Given the description of an element on the screen output the (x, y) to click on. 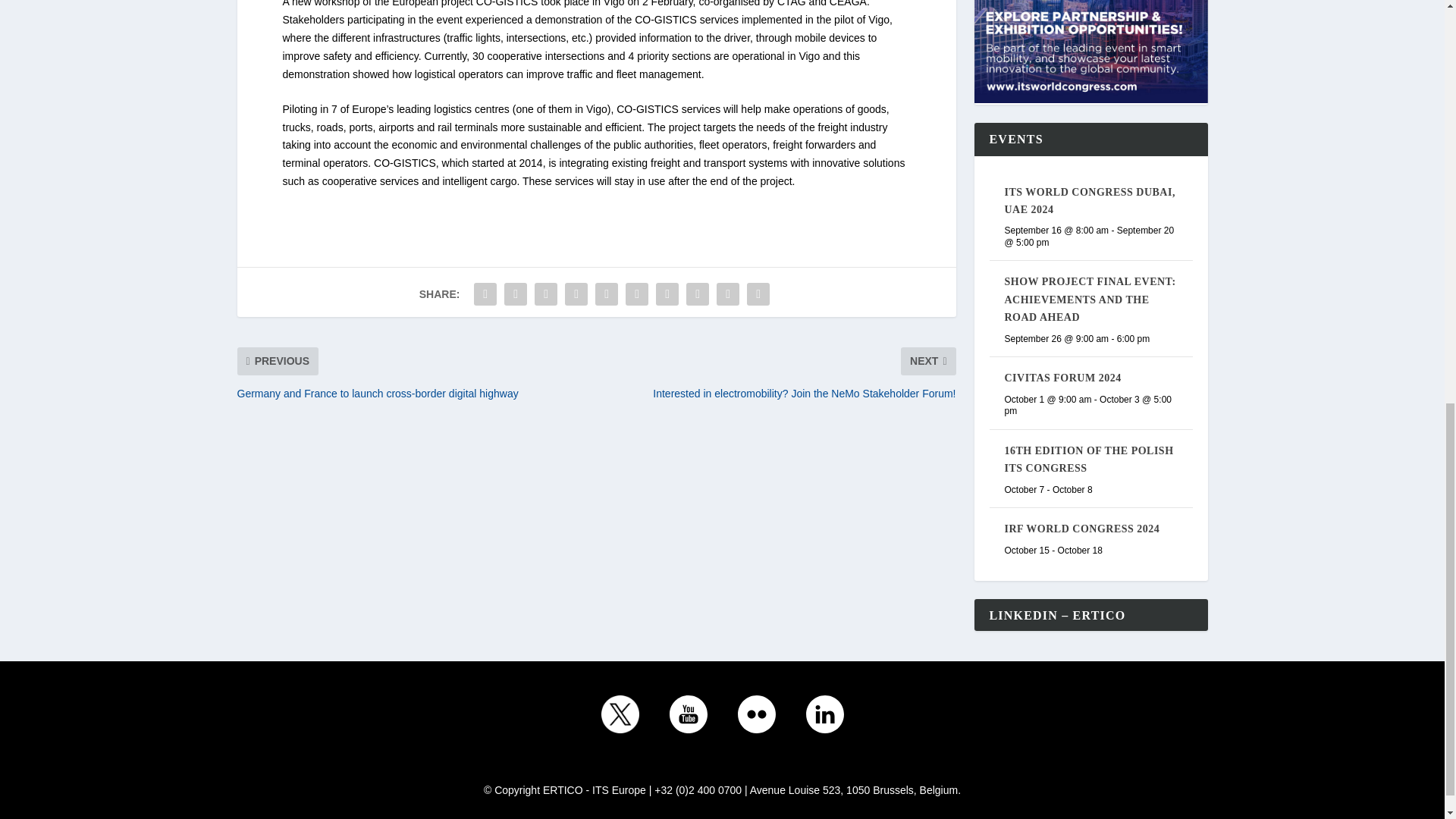
ITS WORLD CONGRESS DUBAI, UAE 2024 (1089, 200)
IRF WORLD CONGRESS 2024 (1081, 528)
SHOW PROJECT FINAL EVENT: ACHIEVEMENTS AND THE ROAD AHEAD (1089, 299)
16TH EDITION OF THE POLISH ITS CONGRESS (1088, 459)
CIVITAS FORUM 2024 (1062, 378)
